Given the description of an element on the screen output the (x, y) to click on. 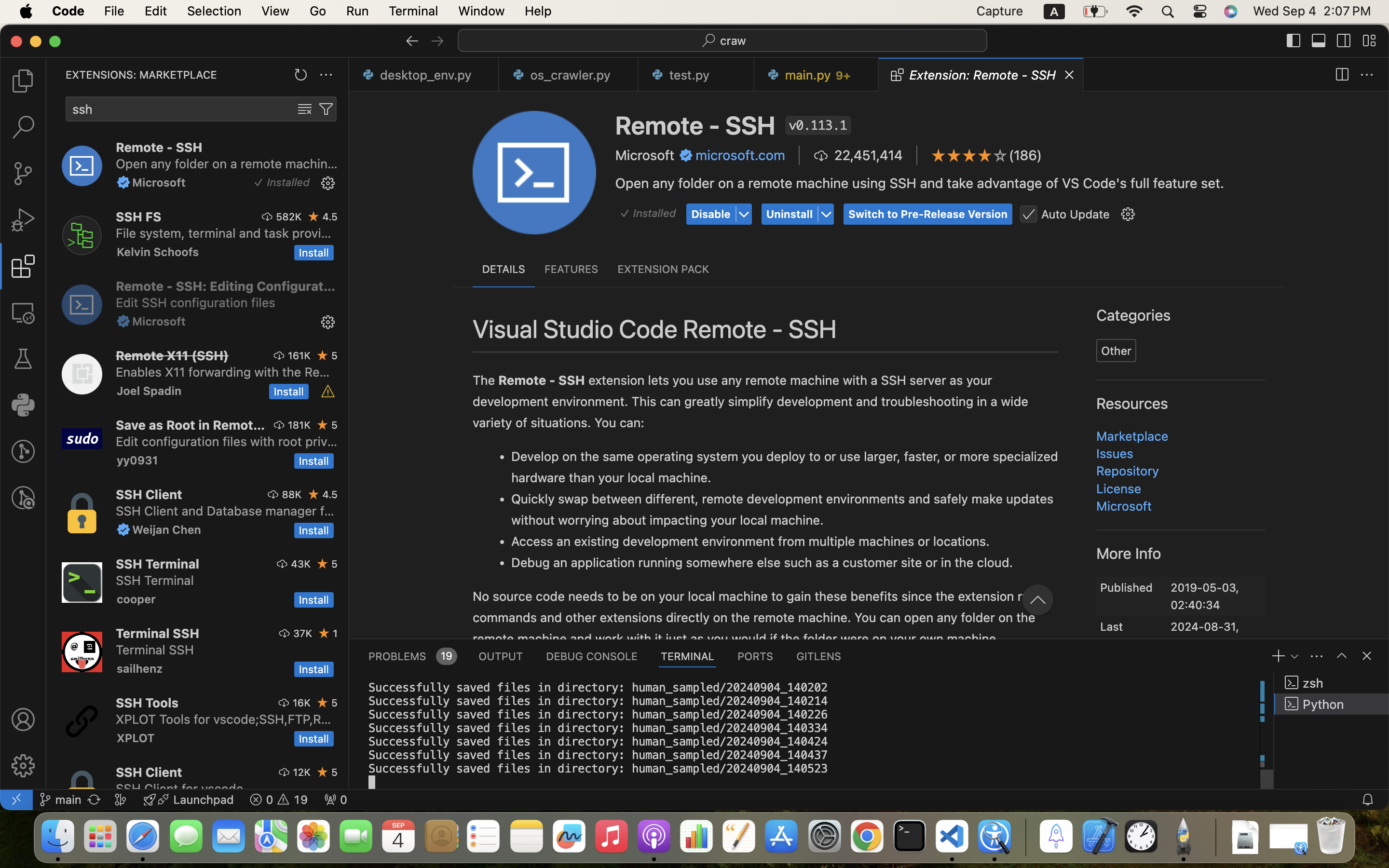
88K Element type: AXStaticText (291, 494)
Microsoft Element type: AXStaticText (645, 154)
Save as Root in Remote - SSH Element type: AXStaticText (190, 424)
0 PROBLEMS 19 Element type: AXRadioButton (411, 655)
 Element type: AXStaticText (1366, 74)
